Given the description of an element on the screen output the (x, y) to click on. 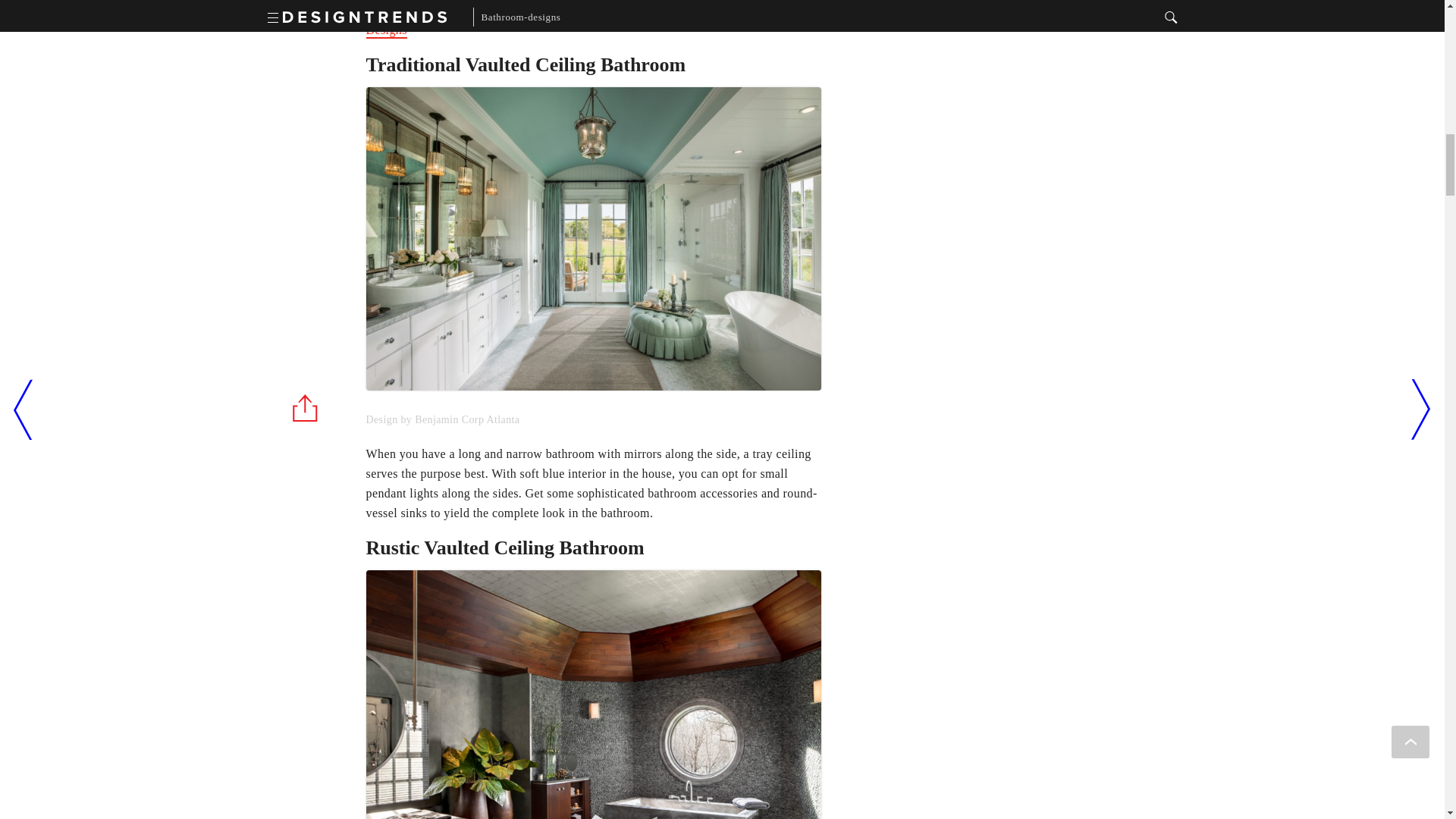
Elegant White Bathroom Designs (580, 21)
sghinteriors.com (593, 678)
